Given the description of an element on the screen output the (x, y) to click on. 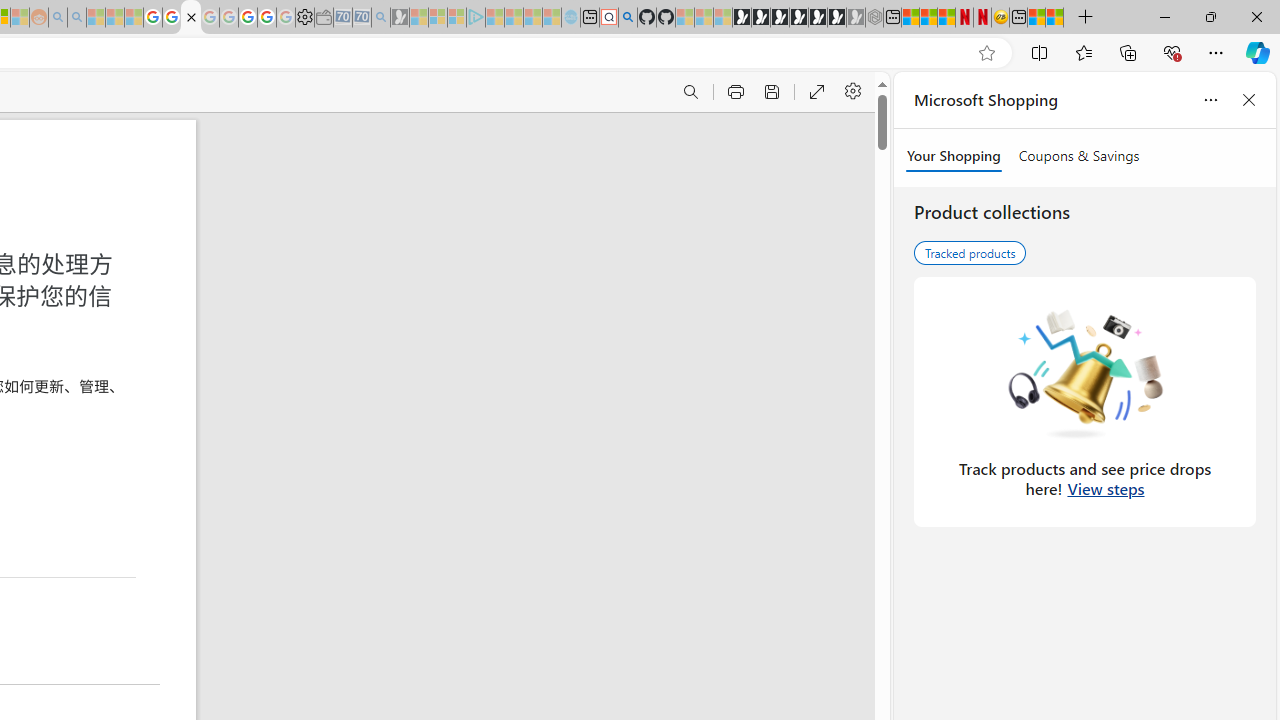
github - Search (628, 17)
Enter PDF full screen (815, 92)
Print (Ctrl+P) (734, 92)
Find (Ctrl + F) (690, 92)
